Given the description of an element on the screen output the (x, y) to click on. 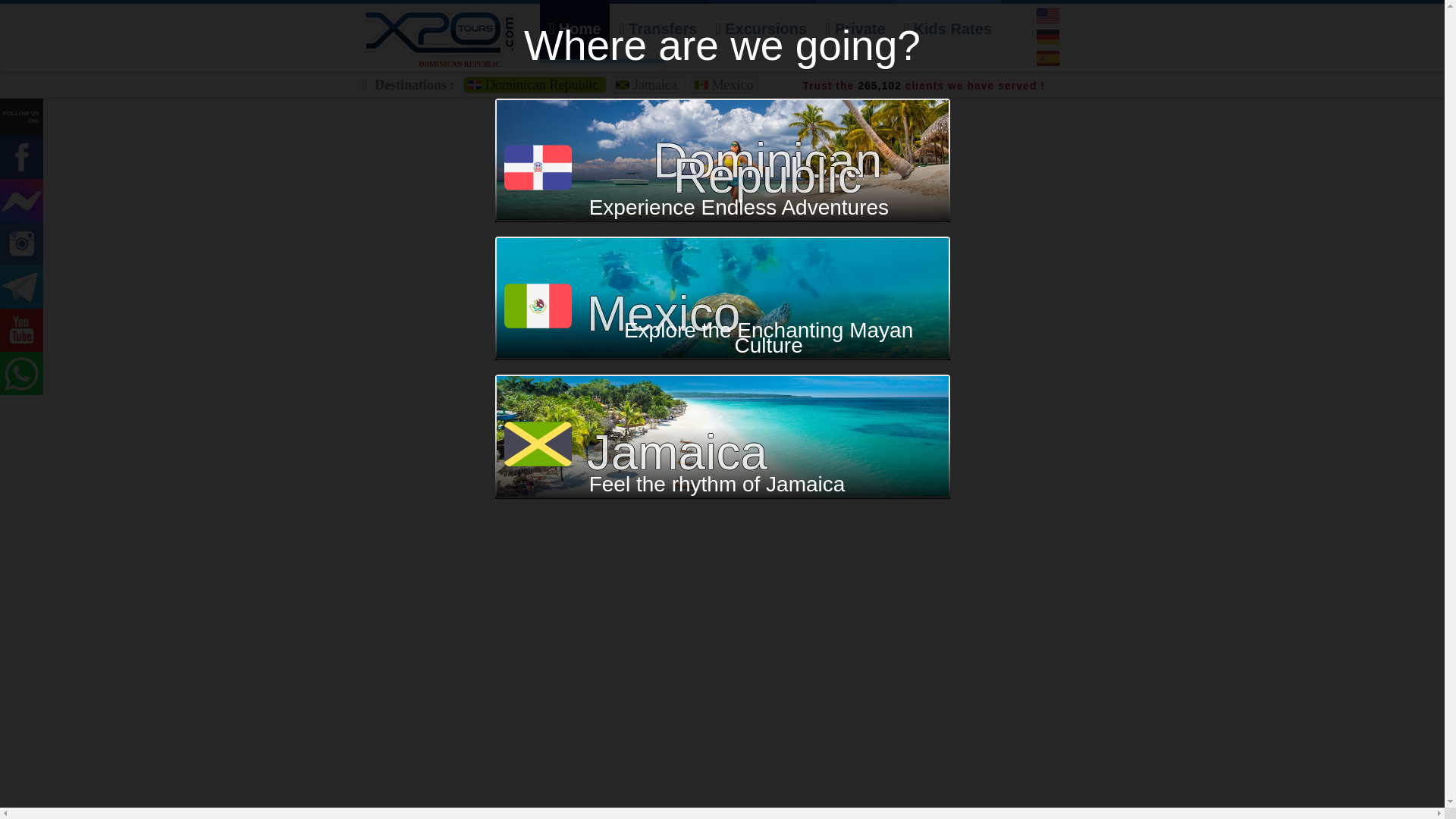
Home (575, 31)
Private (855, 31)
Excursions (760, 31)
Kids Rates (948, 31)
Transfers (658, 31)
